Given the description of an element on the screen output the (x, y) to click on. 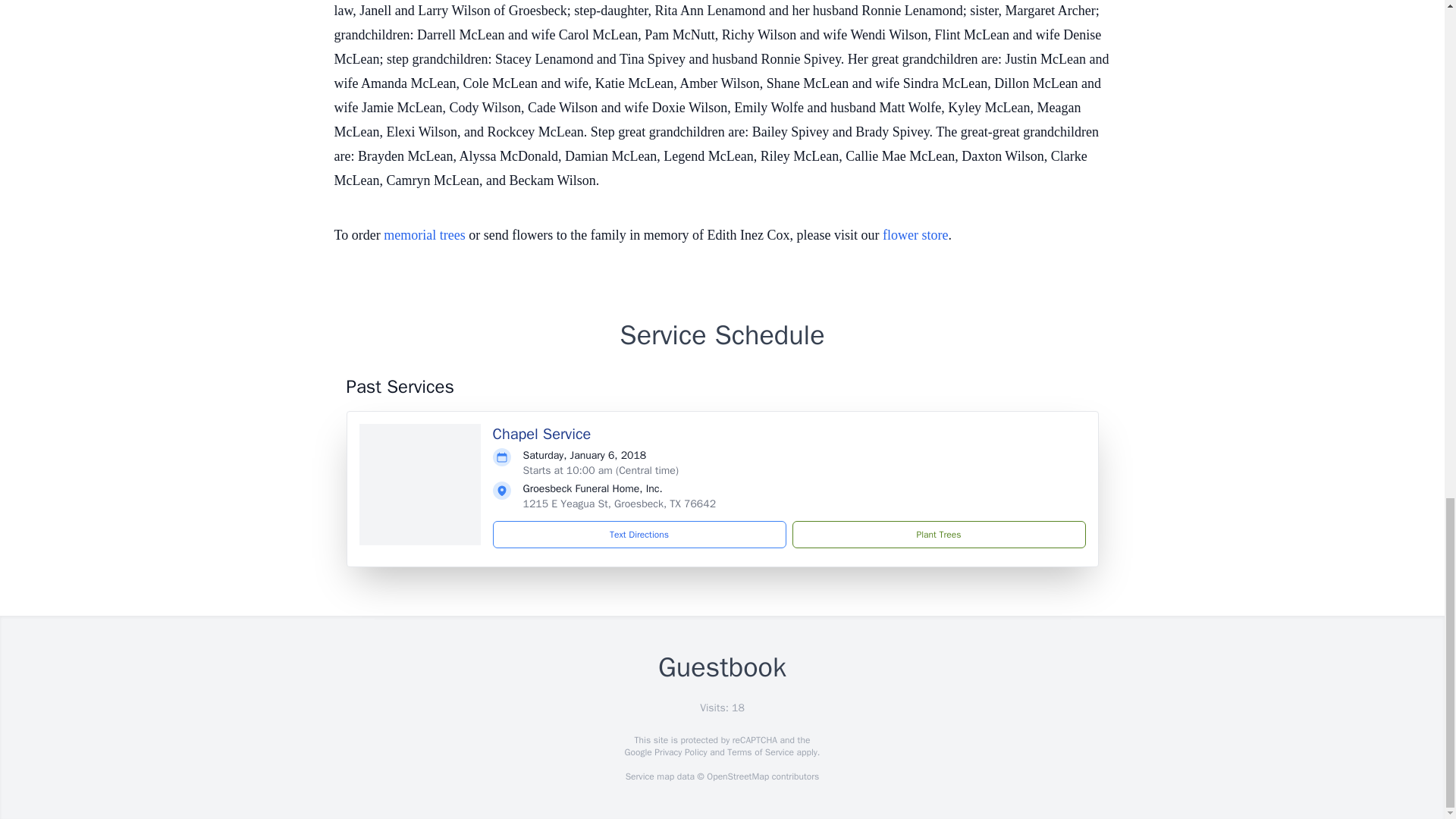
Privacy Policy (679, 752)
memorial trees (424, 234)
Text Directions (639, 533)
1215 E Yeagua St, Groesbeck, TX 76642 (619, 503)
Plant Trees (938, 533)
flower store (914, 234)
Terms of Service (759, 752)
OpenStreetMap (737, 776)
